Given the description of an element on the screen output the (x, y) to click on. 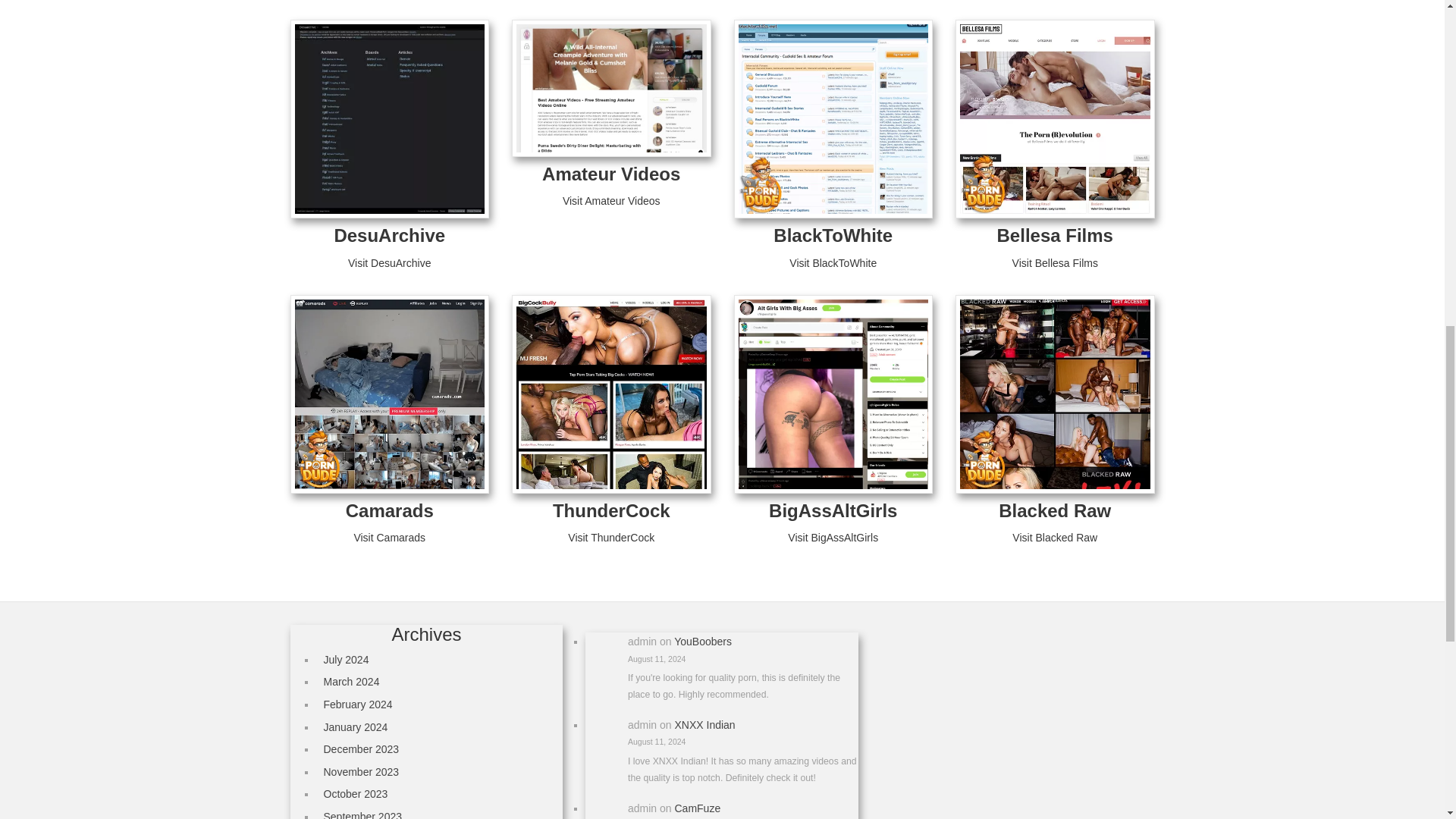
Visit ThunderCock (610, 537)
Visit Bellesa Films (1054, 263)
BigAssAltGirls (832, 510)
Visit BigAssAltGirls (832, 537)
Visit Camarads (389, 537)
Visit BlackToWhite (832, 263)
BlackToWhite (832, 235)
DesuArchive (389, 235)
Visit Amateur Videos (611, 200)
Camarads (389, 510)
